Given the description of an element on the screen output the (x, y) to click on. 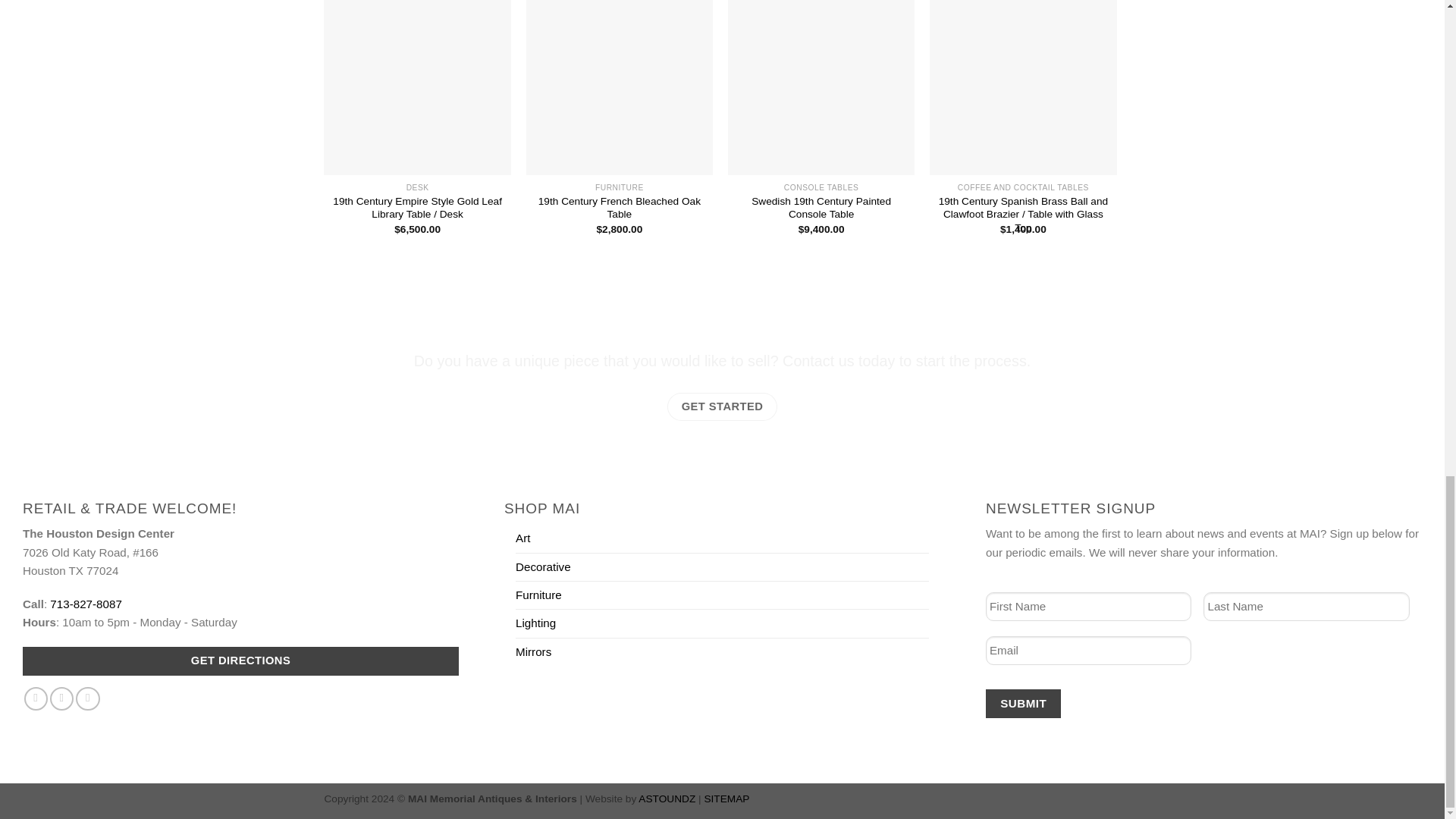
Submit (1023, 703)
